Given the description of an element on the screen output the (x, y) to click on. 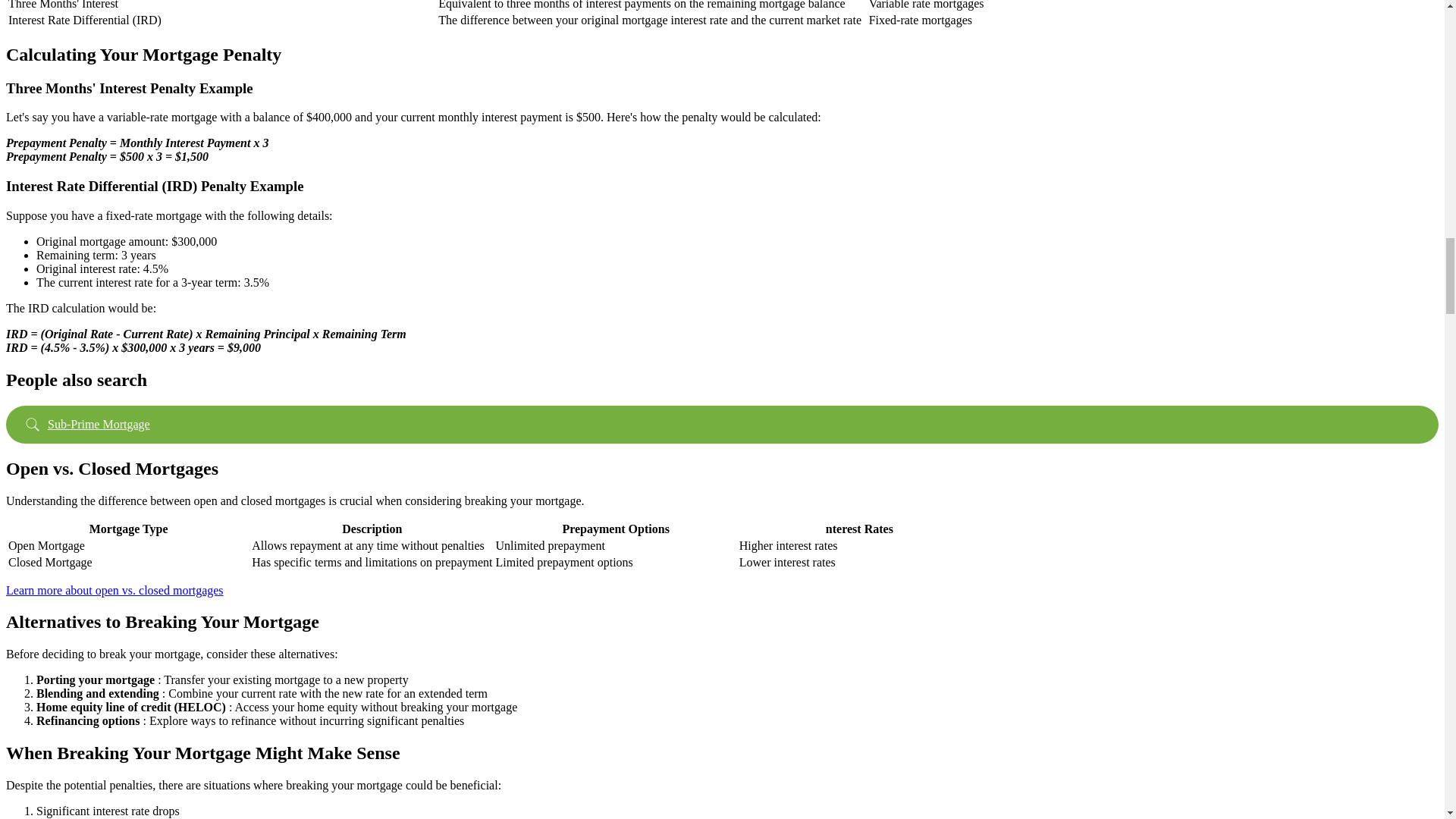
Learn more about open vs. closed mortgages (114, 590)
